Given the description of an element on the screen output the (x, y) to click on. 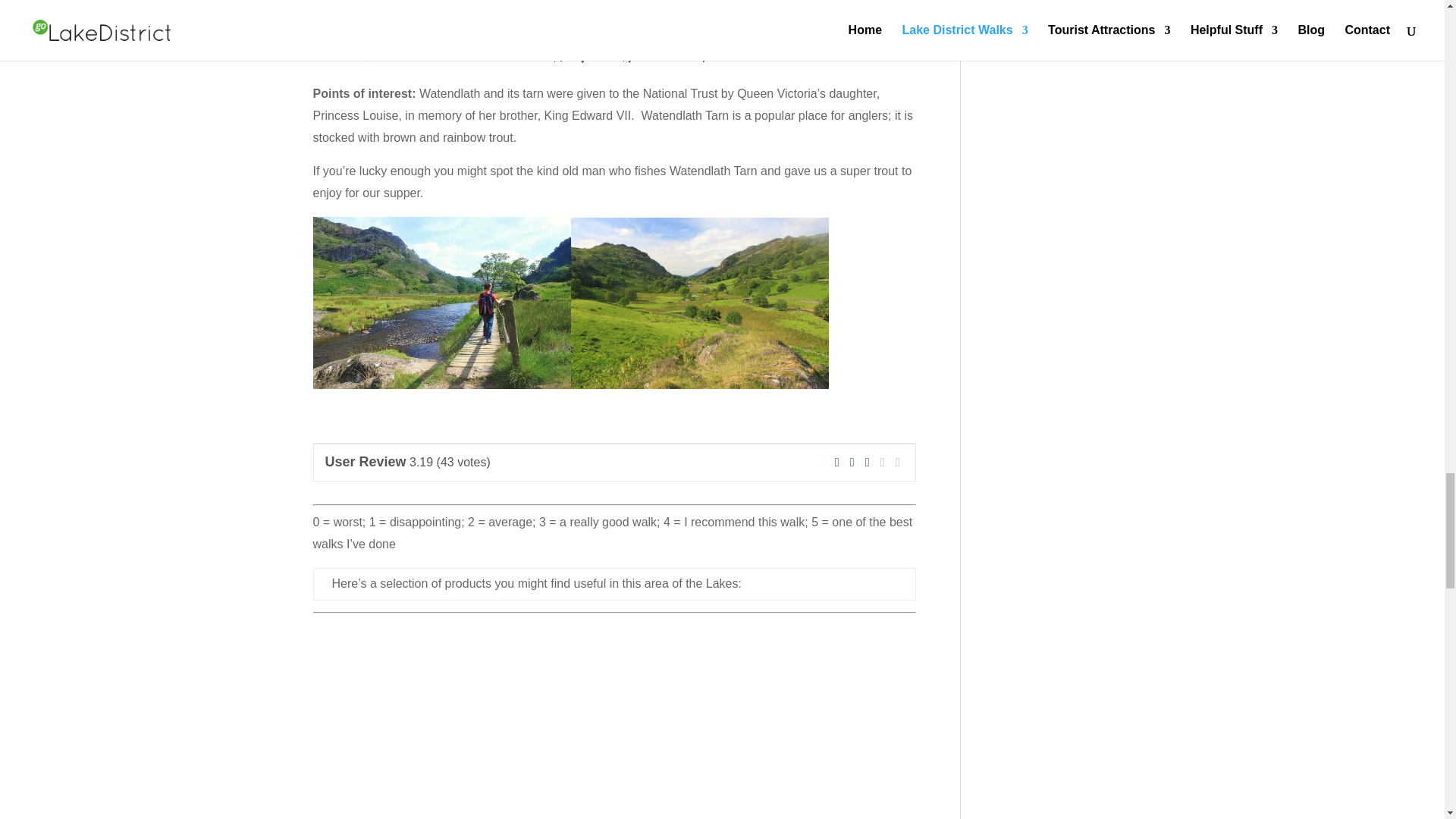
Reecastle Crag, Near Watendlath, Borrowdale, Lake District (441, 303)
Looking North from Watendlath (699, 303)
Map of Watendlath from Surprise View (551, 31)
